Given the description of an element on the screen output the (x, y) to click on. 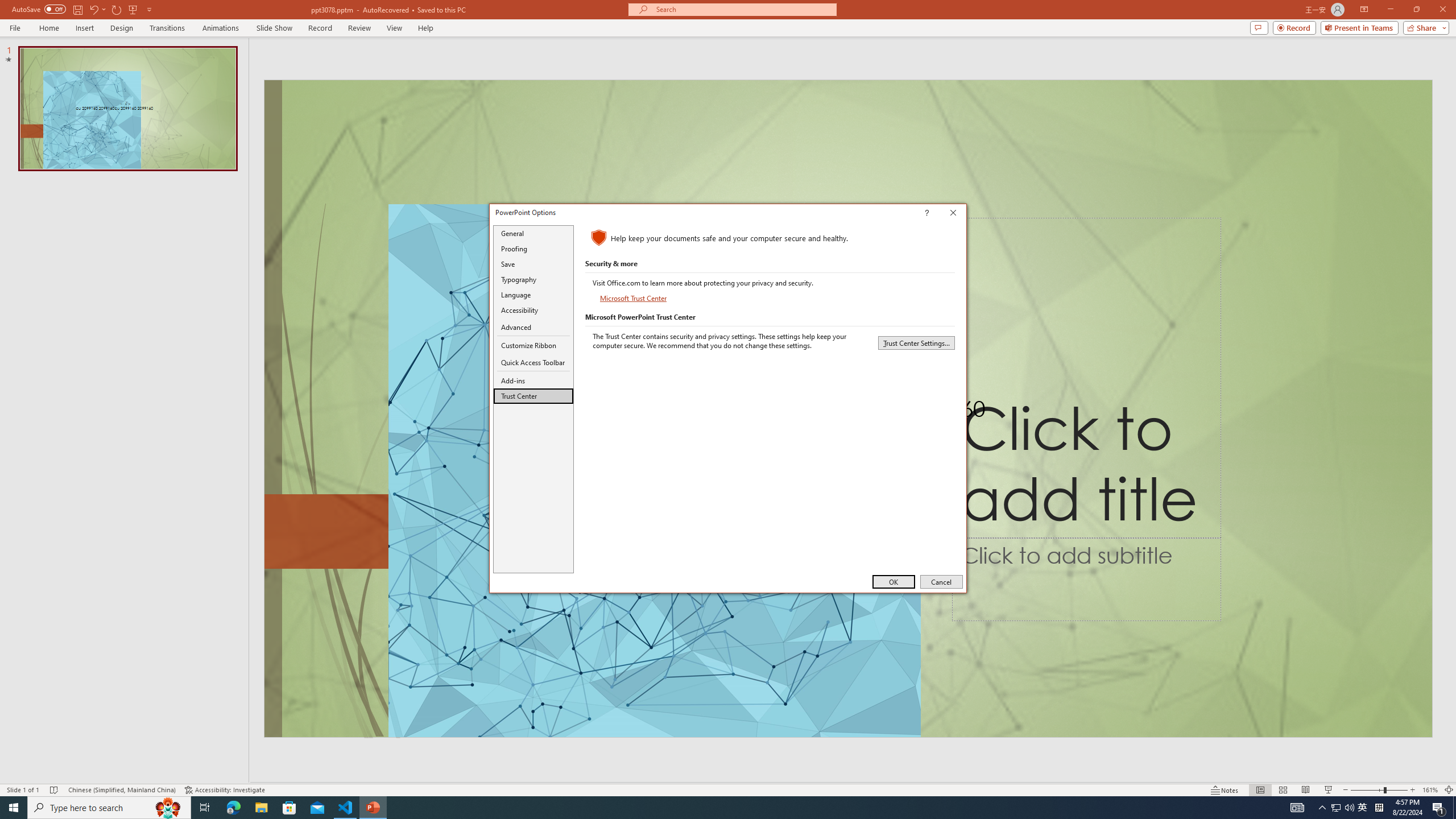
Context help (943, 214)
General (533, 233)
